Given the description of an element on the screen output the (x, y) to click on. 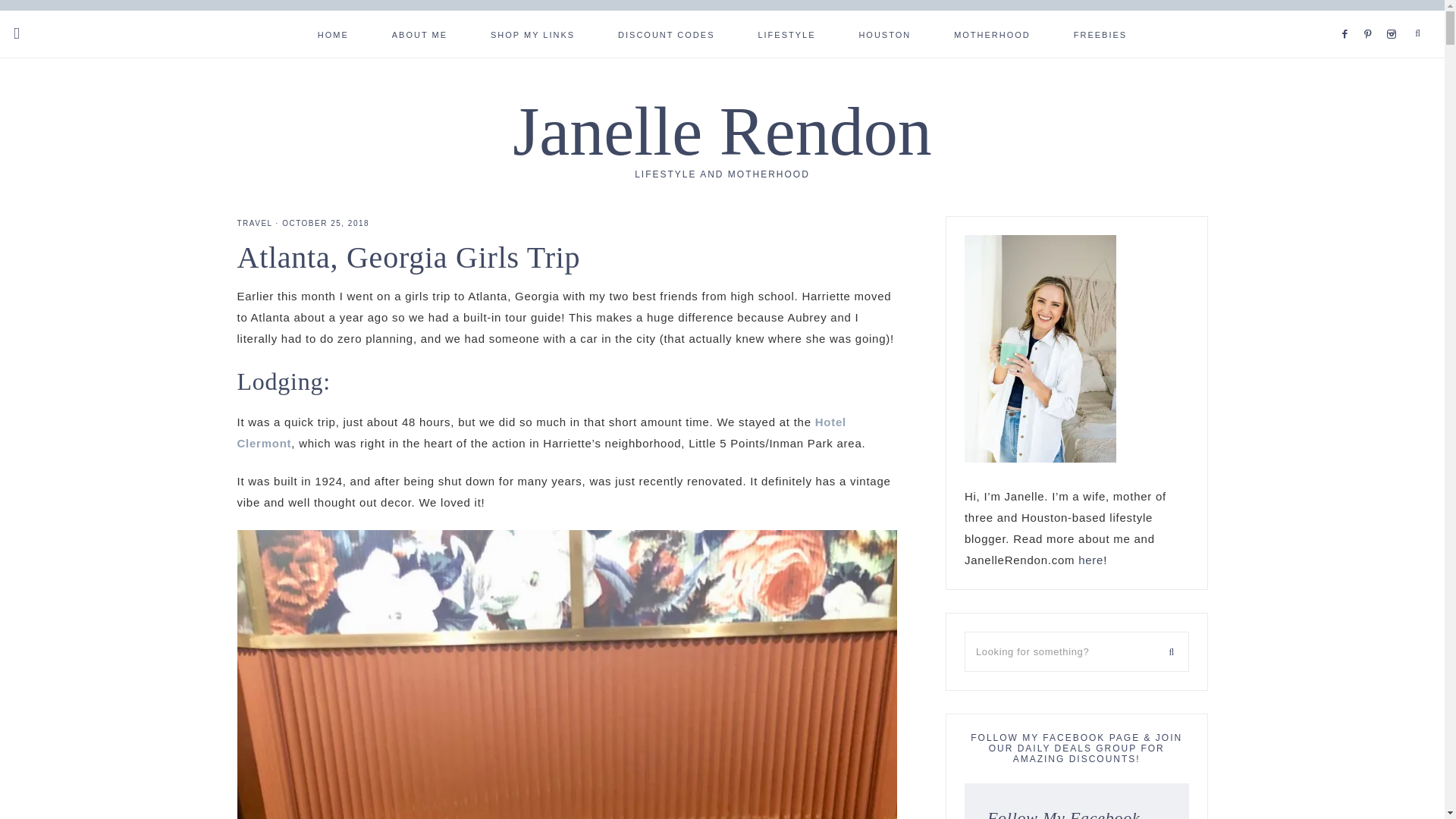
DISCOUNT CODES (665, 33)
Pinterest (1371, 14)
HOME (333, 33)
Janelle Rendon (721, 131)
Instagram (1393, 14)
Facebook (1348, 14)
LIFESTYLE (786, 33)
FREEBIES (1100, 33)
MOTHERHOOD (991, 33)
TRAVEL (253, 223)
